Given the description of an element on the screen output the (x, y) to click on. 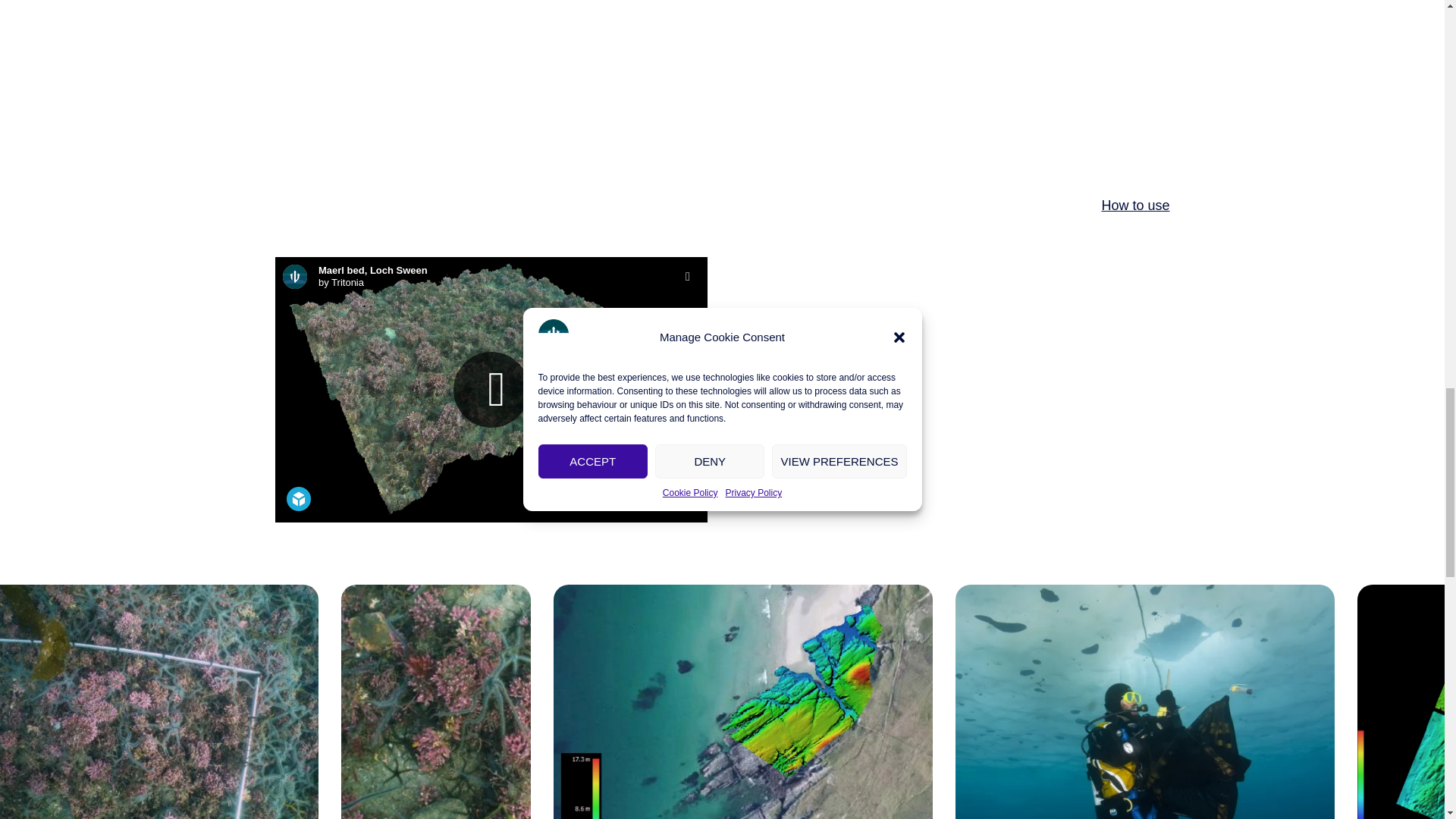
Machir bay basemap - tritonia (743, 701)
How to use (1134, 205)
C5b2237894e9a4524472e9d9546ad59d - tritonia (159, 701)
